Given the description of an element on the screen output the (x, y) to click on. 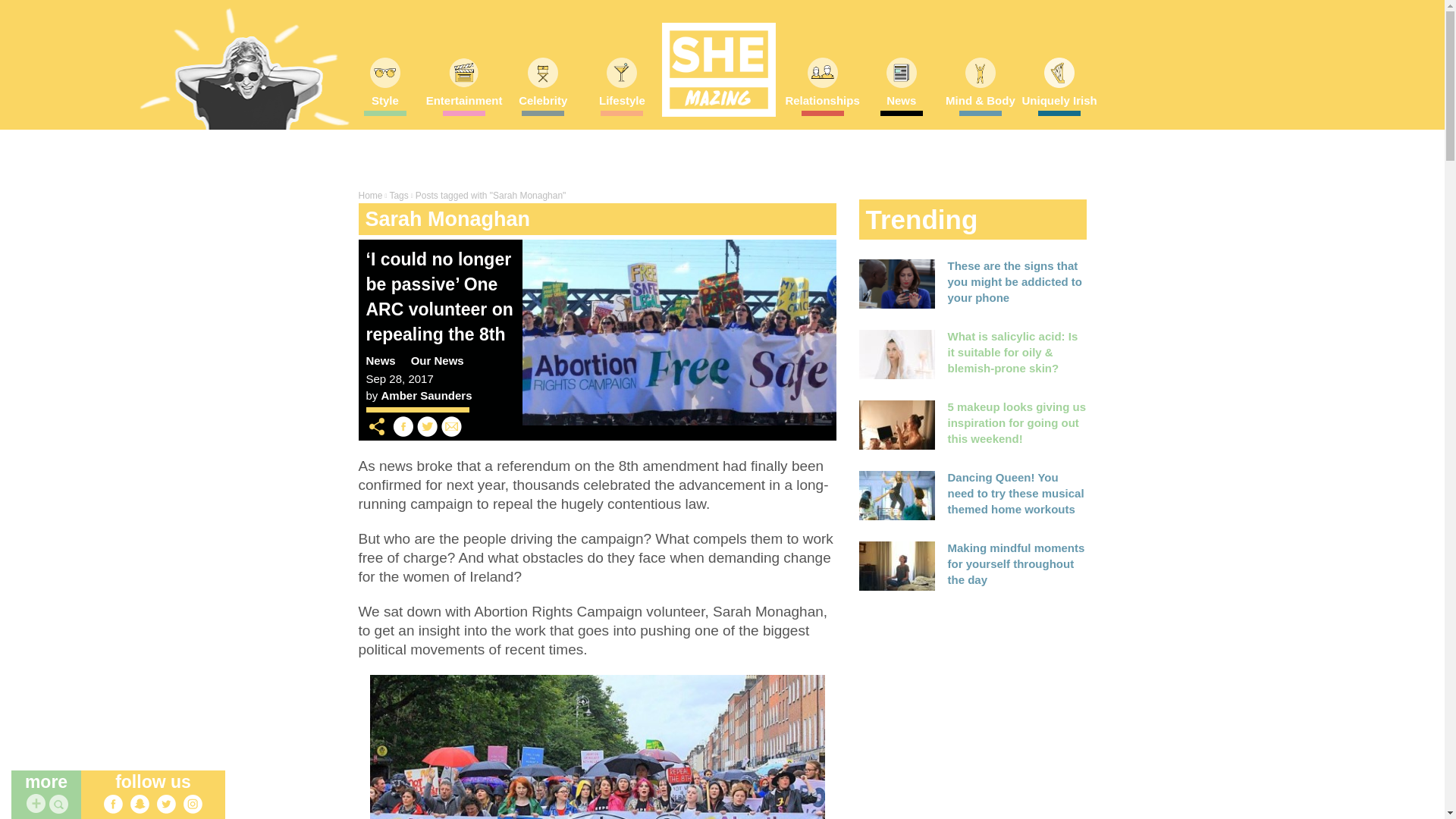
News (901, 104)
Celebrity (542, 104)
Style (385, 104)
SHEmazing! (717, 69)
Lifestyle (621, 104)
Entertainment (464, 104)
Relationships (822, 104)
These are the signs that you might be addicted to your phone (896, 283)
These are the signs that you might be addicted to your phone (1015, 281)
